Given the description of an element on the screen output the (x, y) to click on. 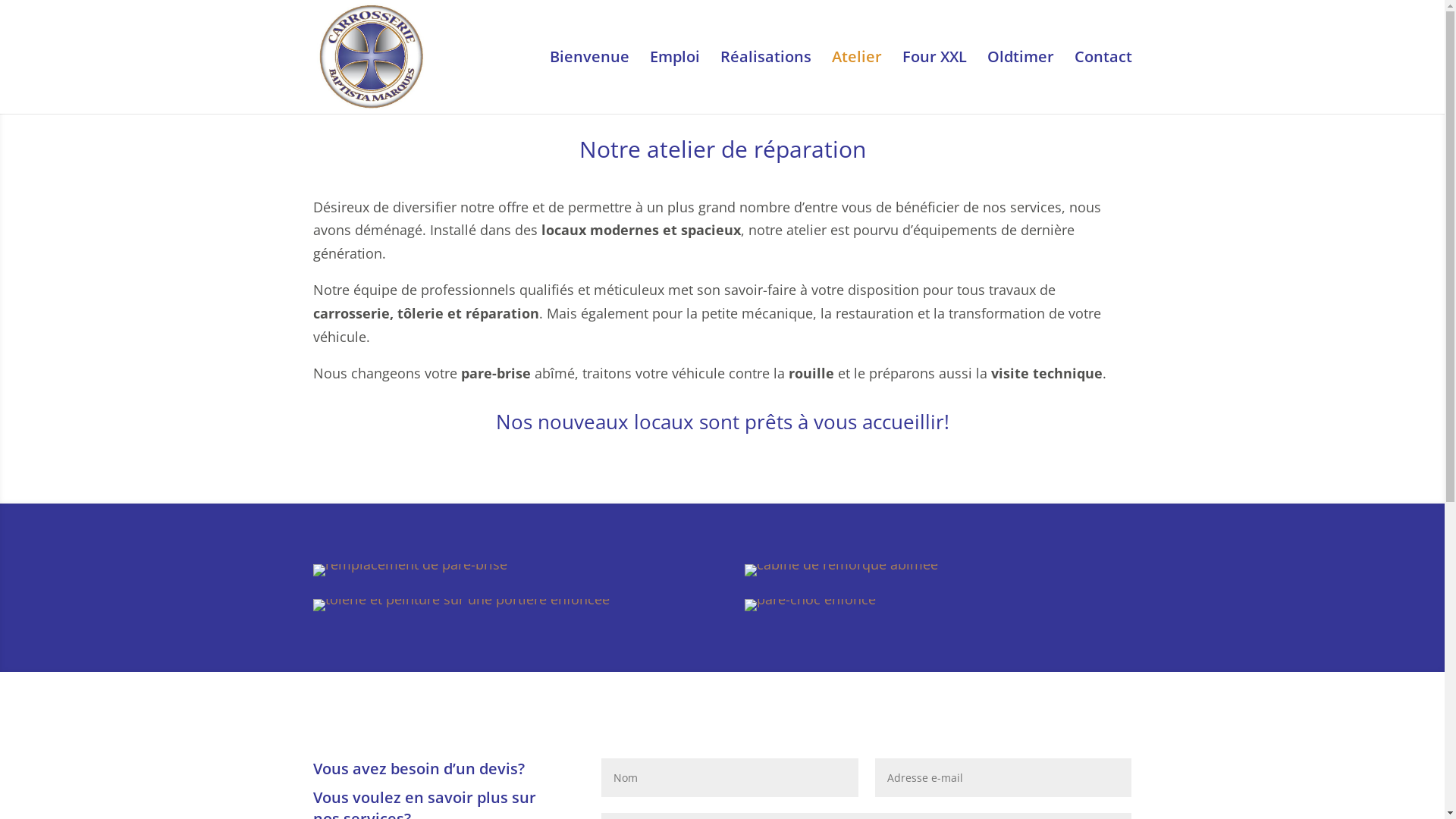
cabine_abimee Element type: hover (841, 570)
portiere_enfoncee Element type: hover (460, 605)
Emploi Element type: text (674, 82)
remplacement de pare-brise Element type: hover (505, 564)
Four XXL Element type: text (934, 82)
Oldtimer Element type: text (1020, 82)
bosse_sur_pare-choc Element type: hover (809, 605)
Bienvenue Element type: text (588, 82)
Contact Element type: text (1102, 82)
remplacement_pare-brise Element type: hover (409, 570)
Automarques_atelier_carrosserie_spacieux Element type: hover (140, 66)
Atelier Element type: text (856, 82)
